Given the description of an element on the screen output the (x, y) to click on. 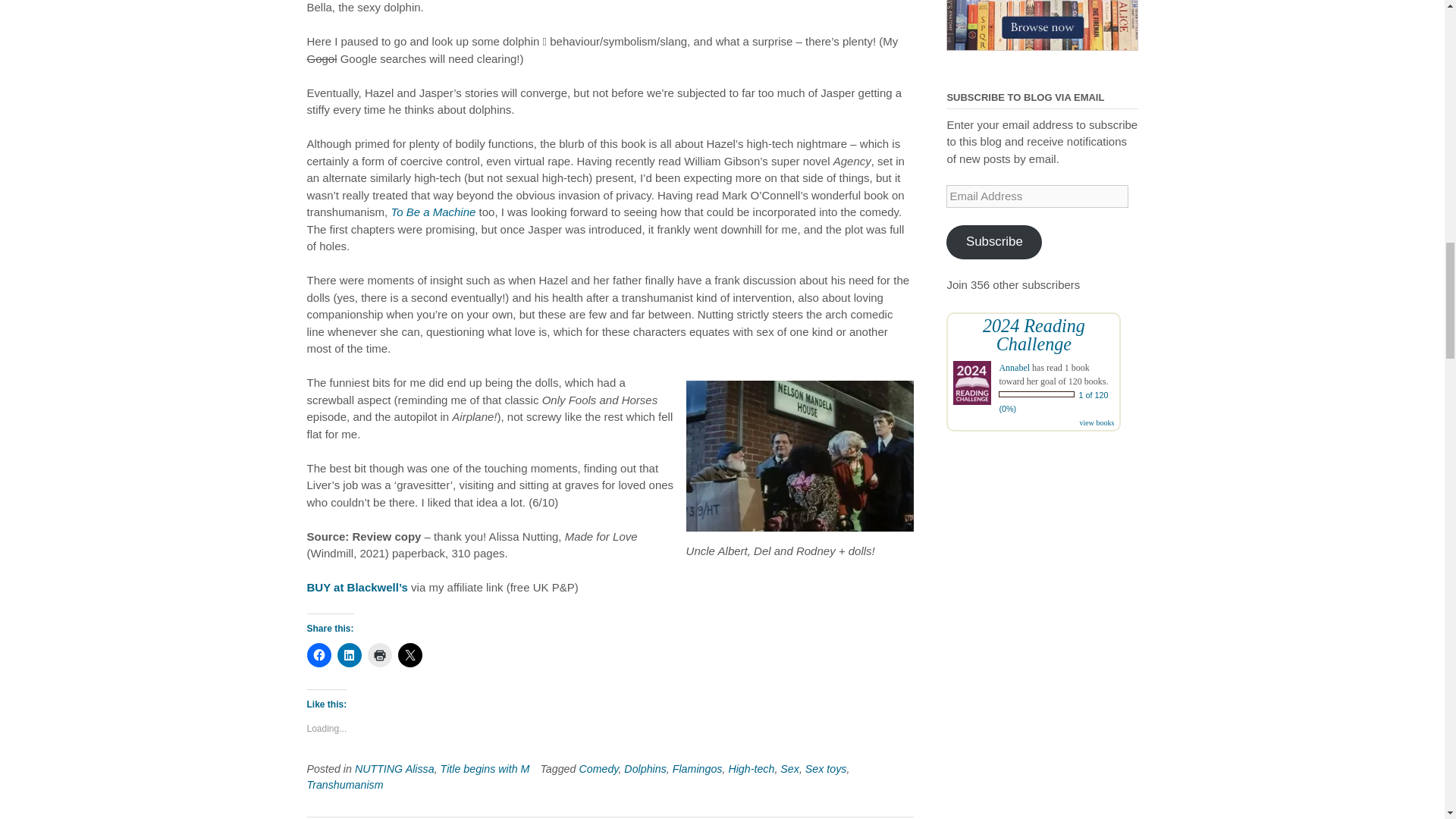
Click to share on X (409, 654)
Click to print (378, 654)
NUTTING Alissa (394, 768)
Comedy (597, 768)
Dolphins (644, 768)
Flamingos (697, 768)
Click to share on Facebook (317, 654)
Sex (789, 768)
www.blackwells.co.uk (1041, 25)
Title begins with M (485, 768)
Sex toys (826, 768)
To Be a Machine (433, 211)
High-tech (751, 768)
Click to share on LinkedIn (348, 654)
Transhumanism (343, 784)
